Given the description of an element on the screen output the (x, y) to click on. 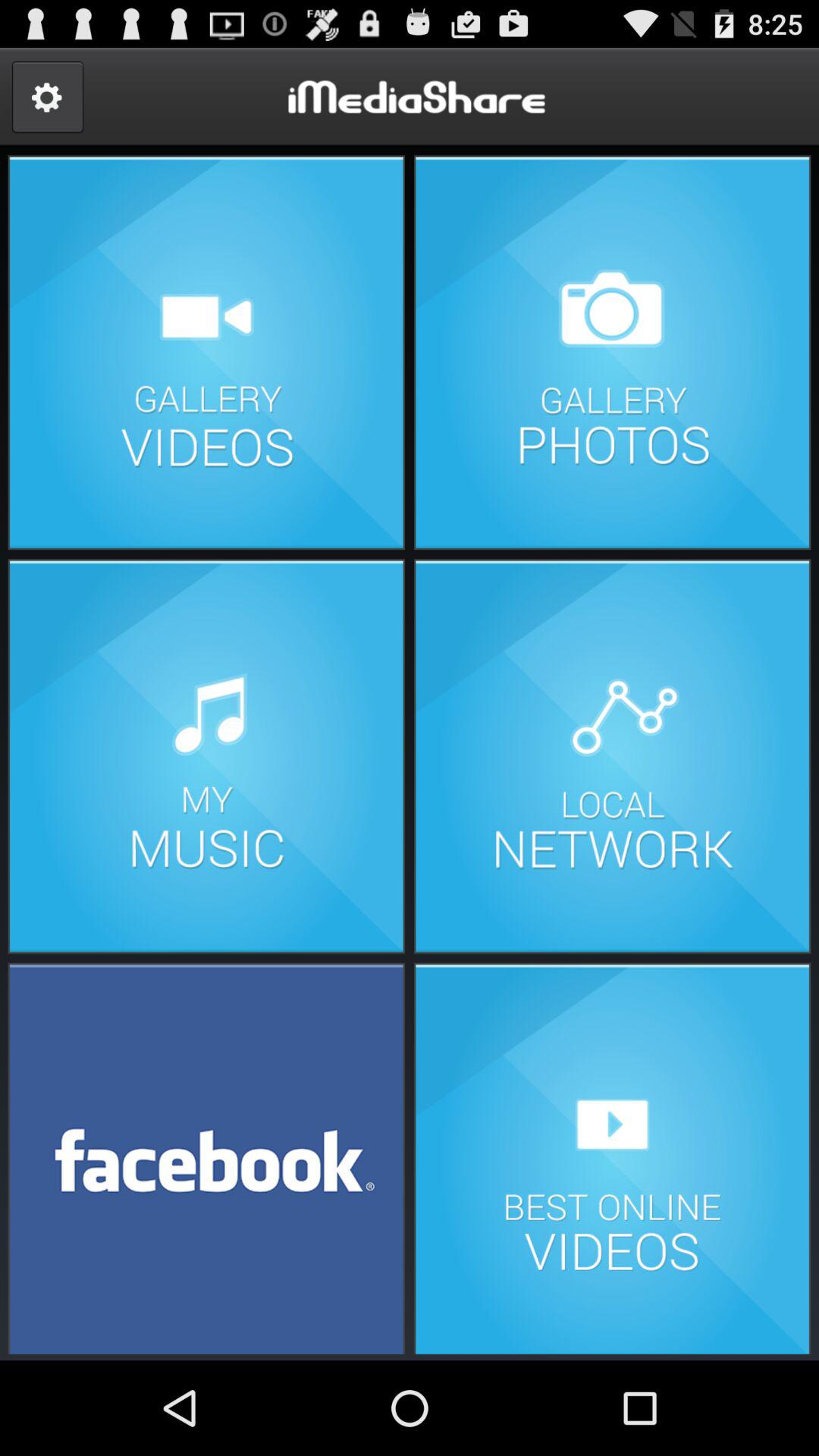
connect to wifi (612, 756)
